Given the description of an element on the screen output the (x, y) to click on. 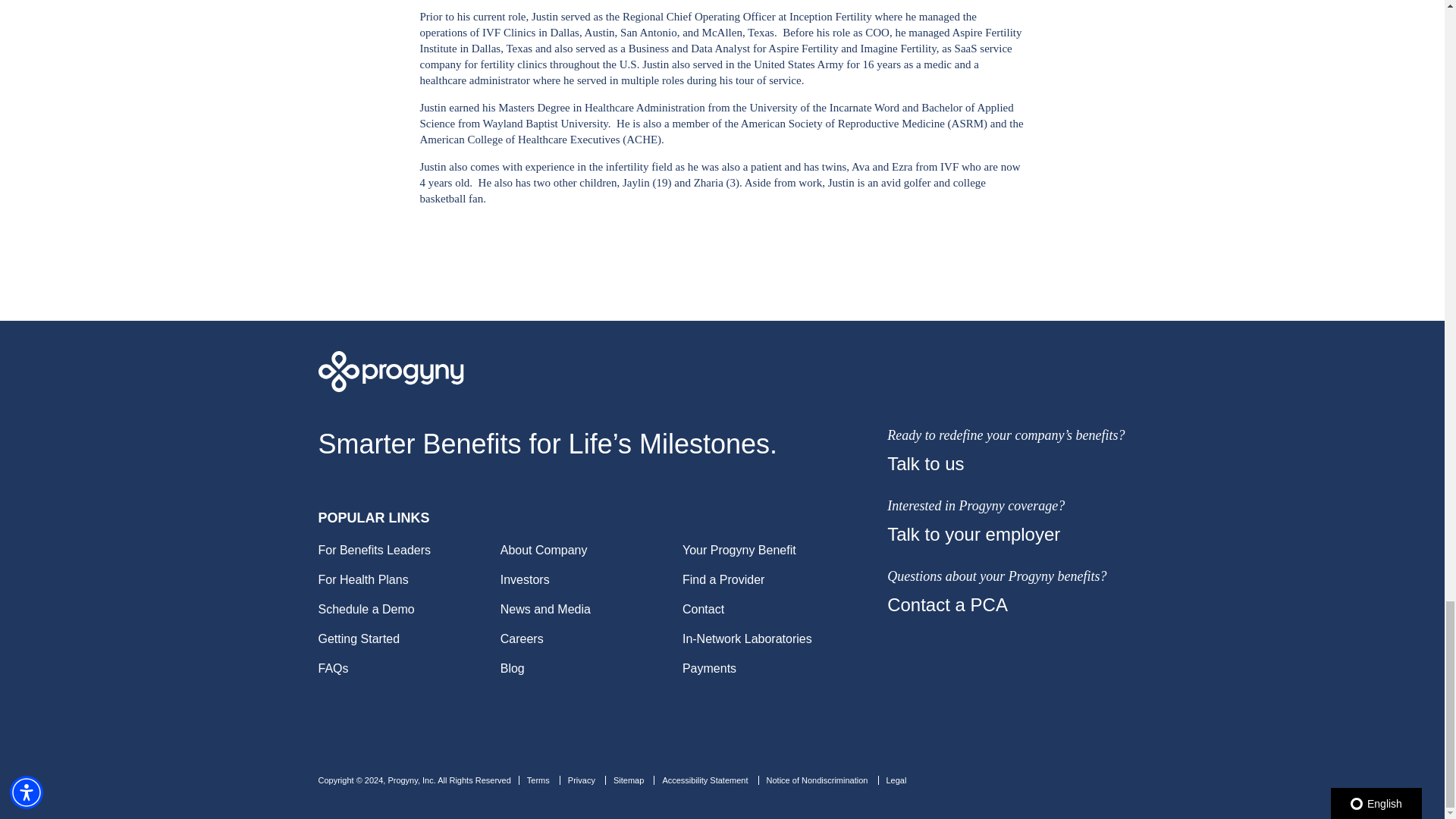
Progyny (722, 371)
